Given the description of an element on the screen output the (x, y) to click on. 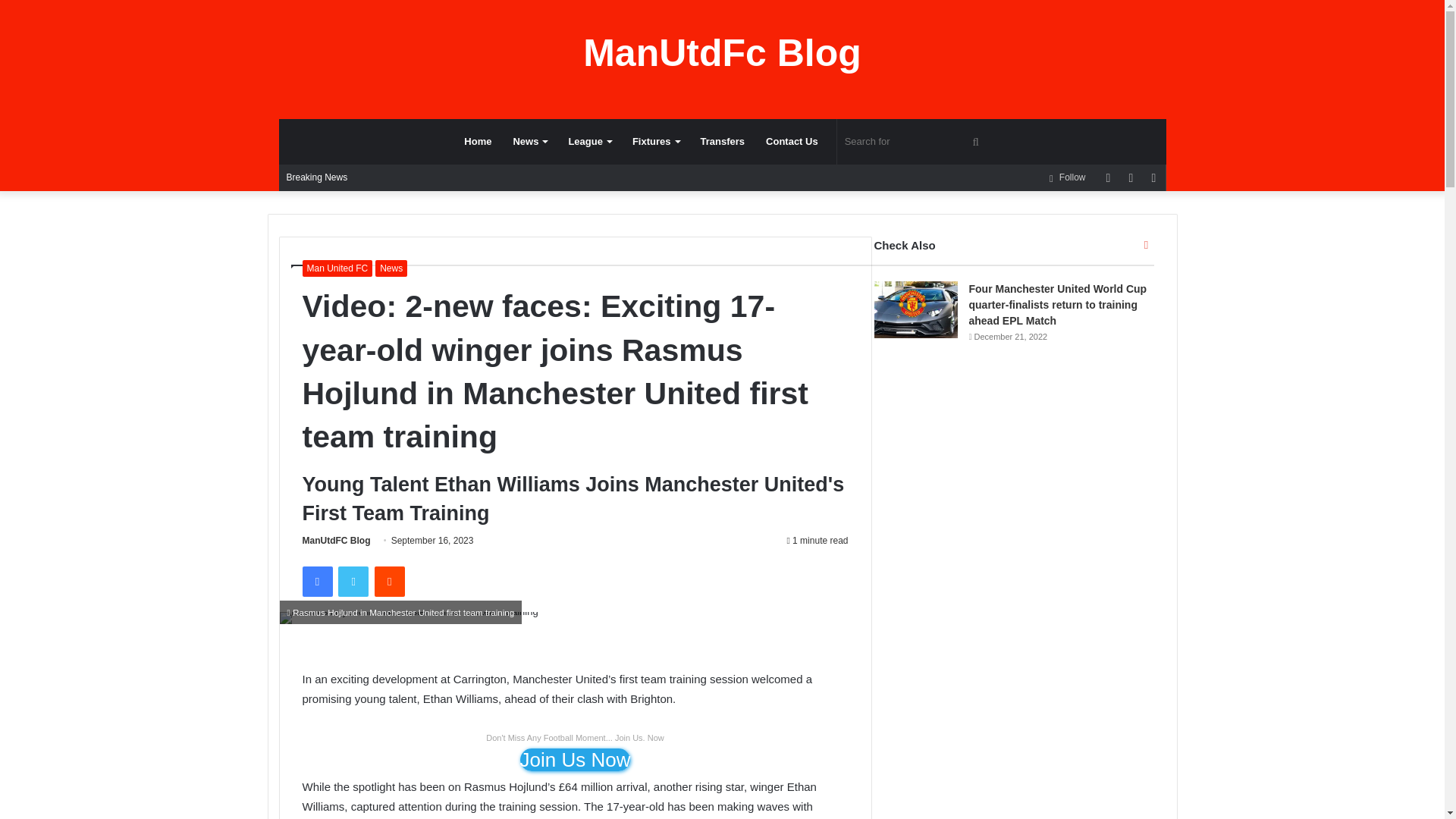
Facebook (316, 581)
Search for (914, 141)
Twitter (352, 581)
News (529, 141)
League (589, 141)
Contact Us (791, 141)
Join Us Now (574, 759)
Follow (1067, 177)
ManUtdFc Blog (722, 53)
ManUtdFC Blog (335, 540)
